Given the description of an element on the screen output the (x, y) to click on. 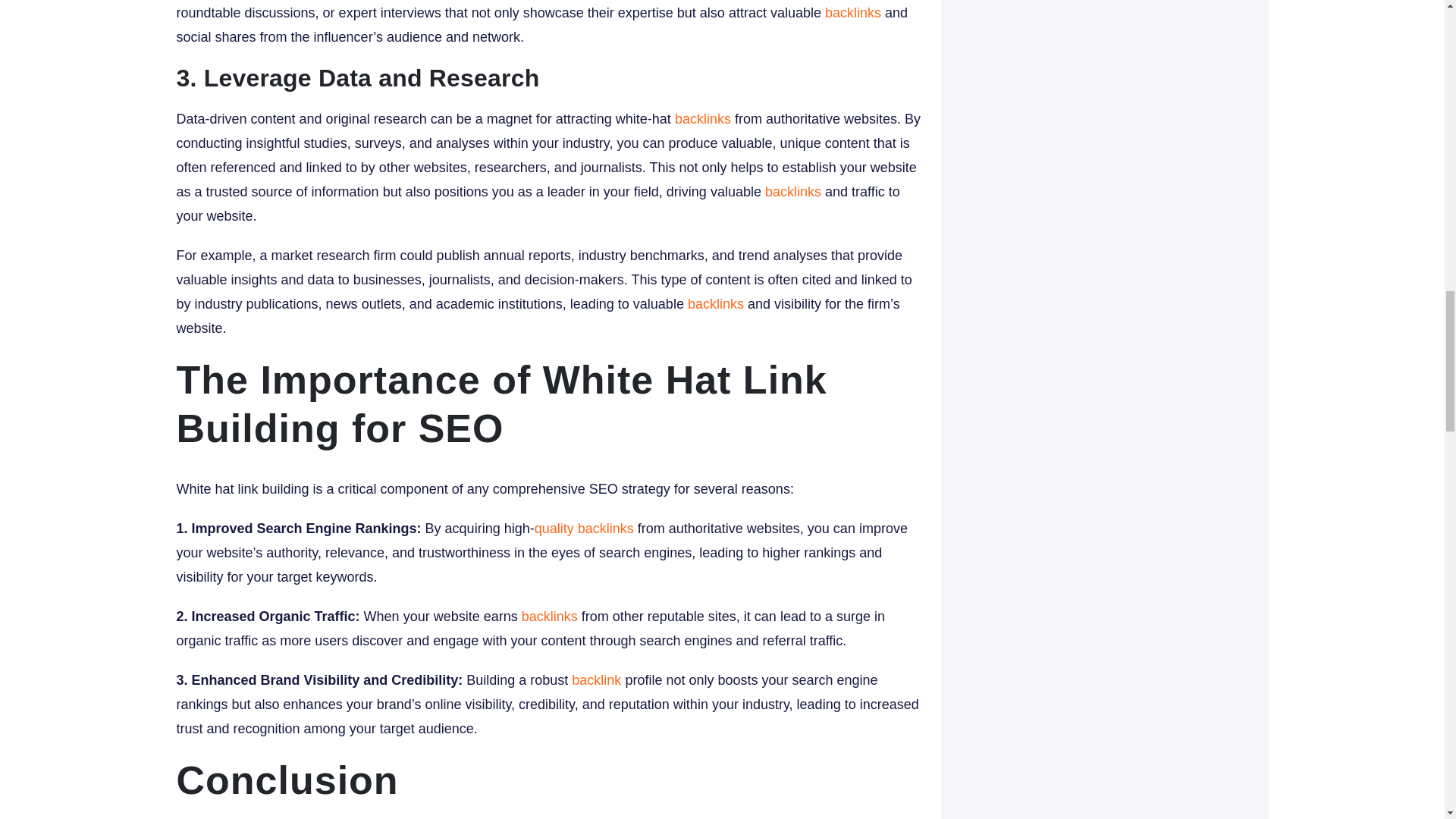
backlinks (793, 191)
quality backlinks (583, 528)
backlinks (715, 304)
backlink (596, 679)
backlinks (702, 118)
backlinks (852, 12)
backlinks (549, 616)
